Given the description of an element on the screen output the (x, y) to click on. 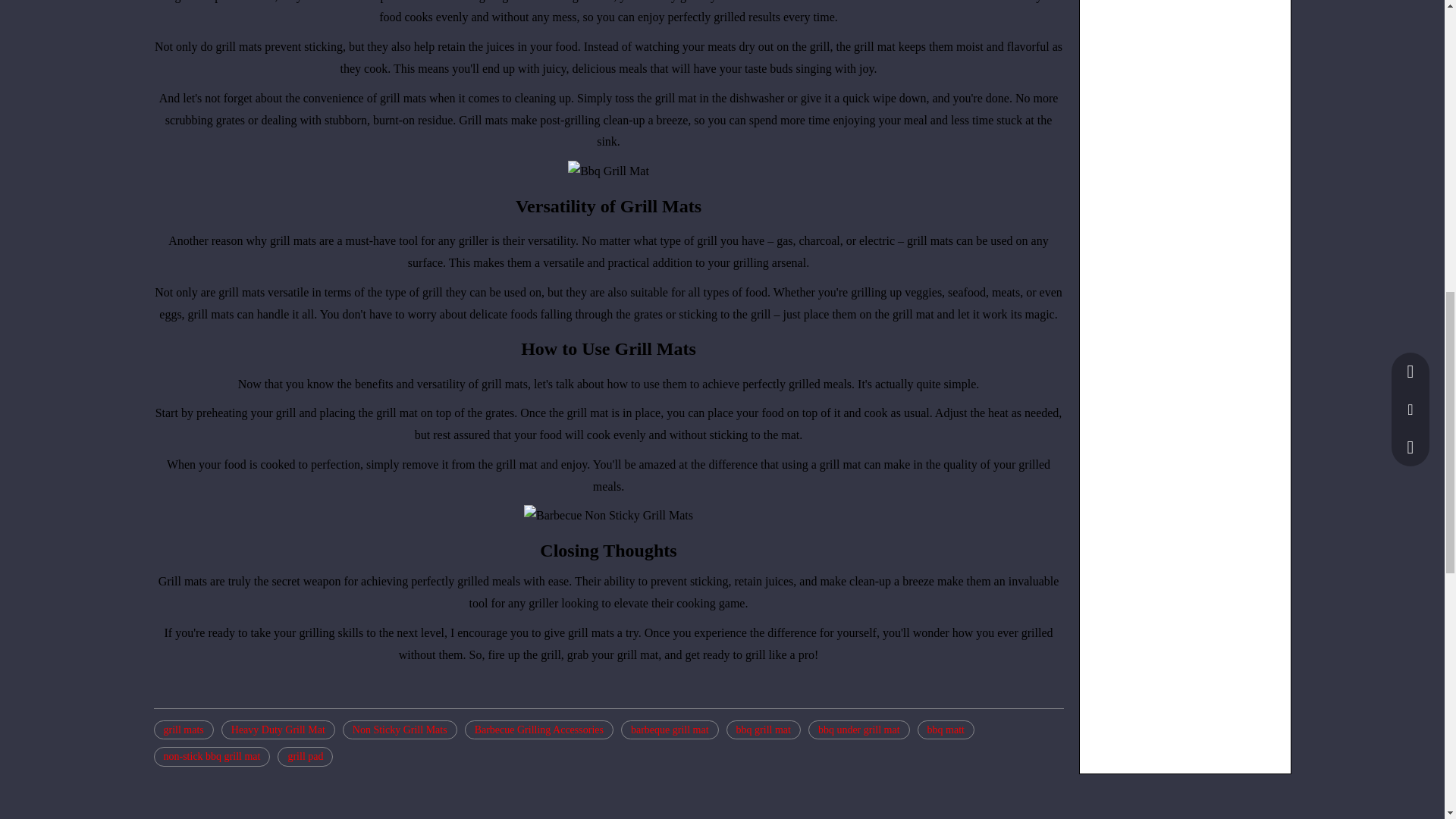
grill grates (505, 1)
grill pad (305, 756)
Heavy Duty Grill Mat (277, 730)
Non Sticky Grill Mats (399, 730)
bbq grill mat (763, 730)
Bbq Grill Mat (608, 171)
Barbecue Non Sticky Grill Mats (608, 516)
grill mats (182, 730)
barbeque grill mat (670, 730)
non-stick bbq grill mat (210, 756)
bbq matt (945, 730)
Barbecue Grilling Accessories (538, 730)
barbeque grill mat (670, 730)
bbq grill mat (763, 730)
bbq under grill mat (859, 730)
